Given the description of an element on the screen output the (x, y) to click on. 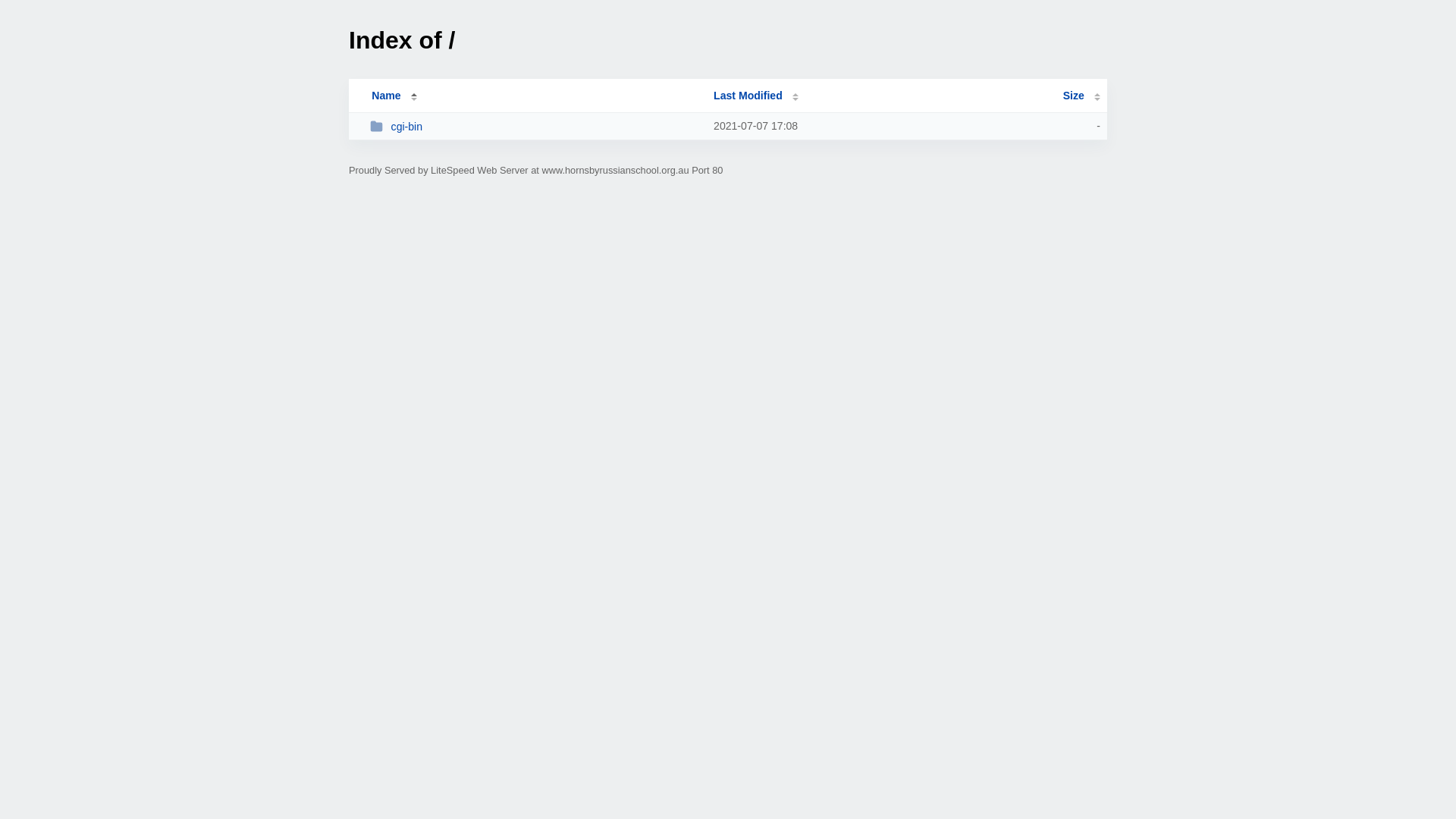
Size Element type: text (1081, 95)
Name Element type: text (385, 95)
cgi-bin Element type: text (534, 125)
Last Modified Element type: text (755, 95)
